Given the description of an element on the screen output the (x, y) to click on. 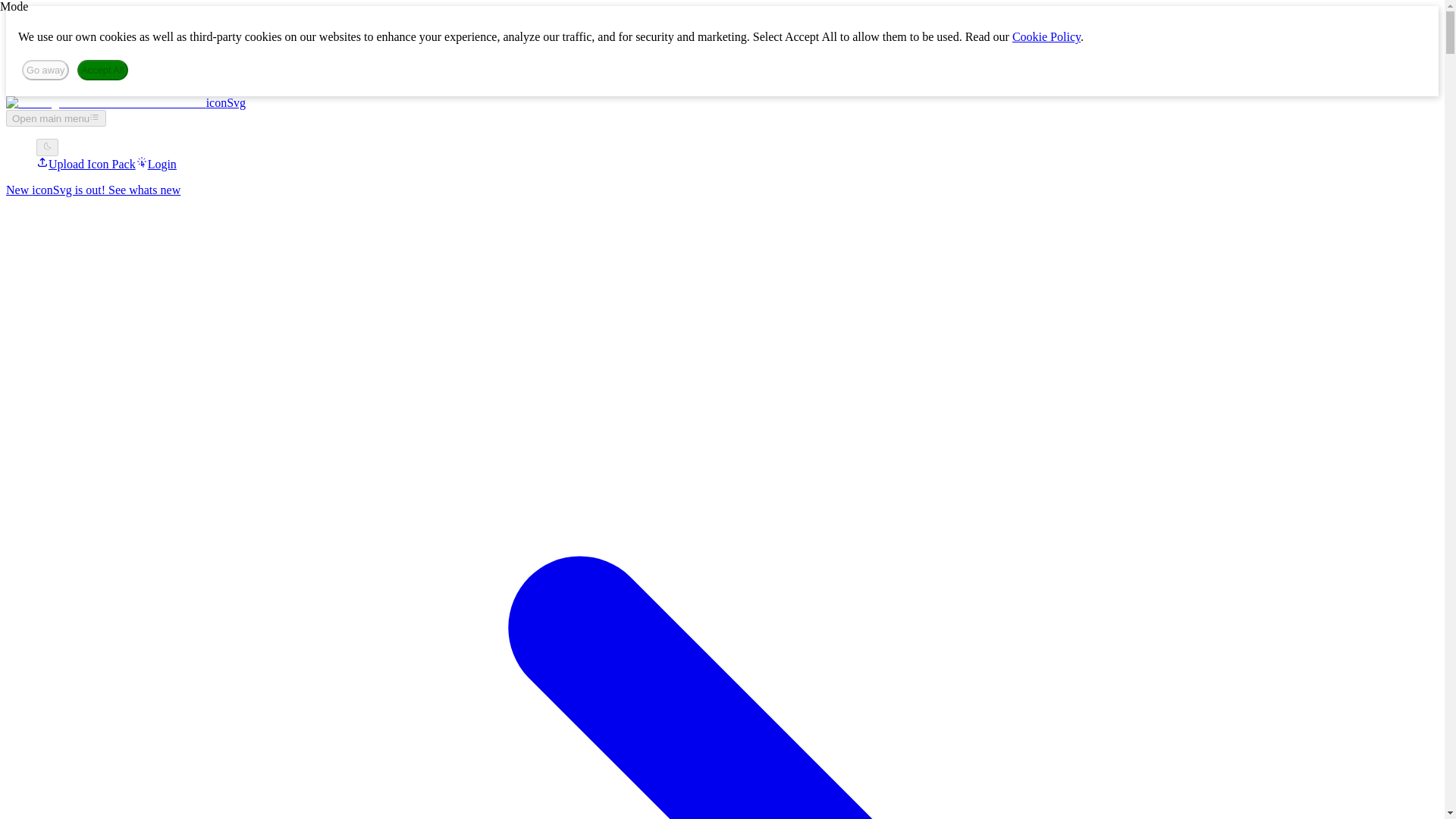
iconSvg (125, 102)
Go away (44, 69)
Login (155, 164)
Open main menu (55, 117)
Upload Icon Pack (85, 164)
Accept All (103, 69)
Cookie Policy (1045, 36)
